Given the description of an element on the screen output the (x, y) to click on. 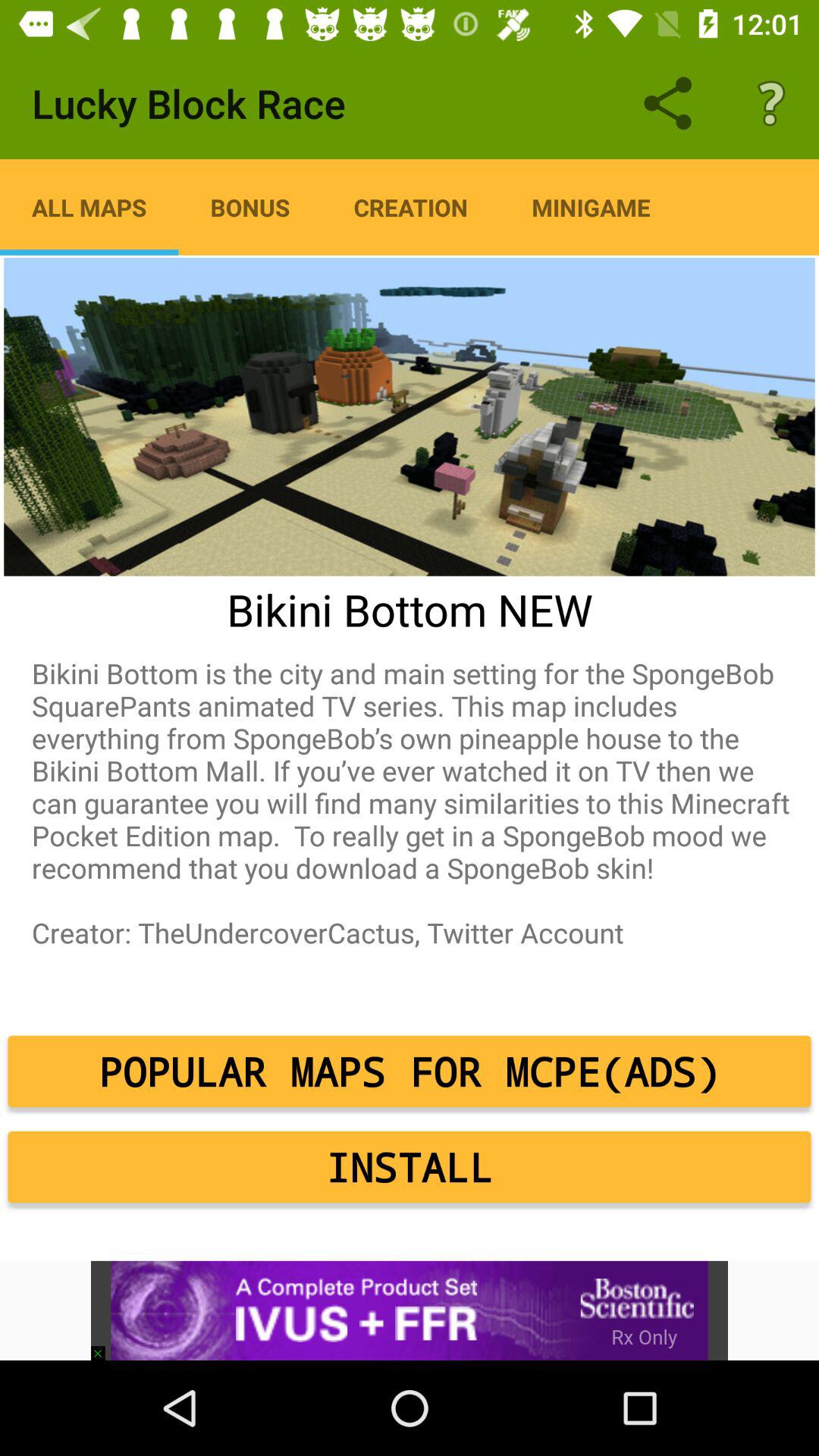
launch the icon to the left of the creation (249, 207)
